Given the description of an element on the screen output the (x, y) to click on. 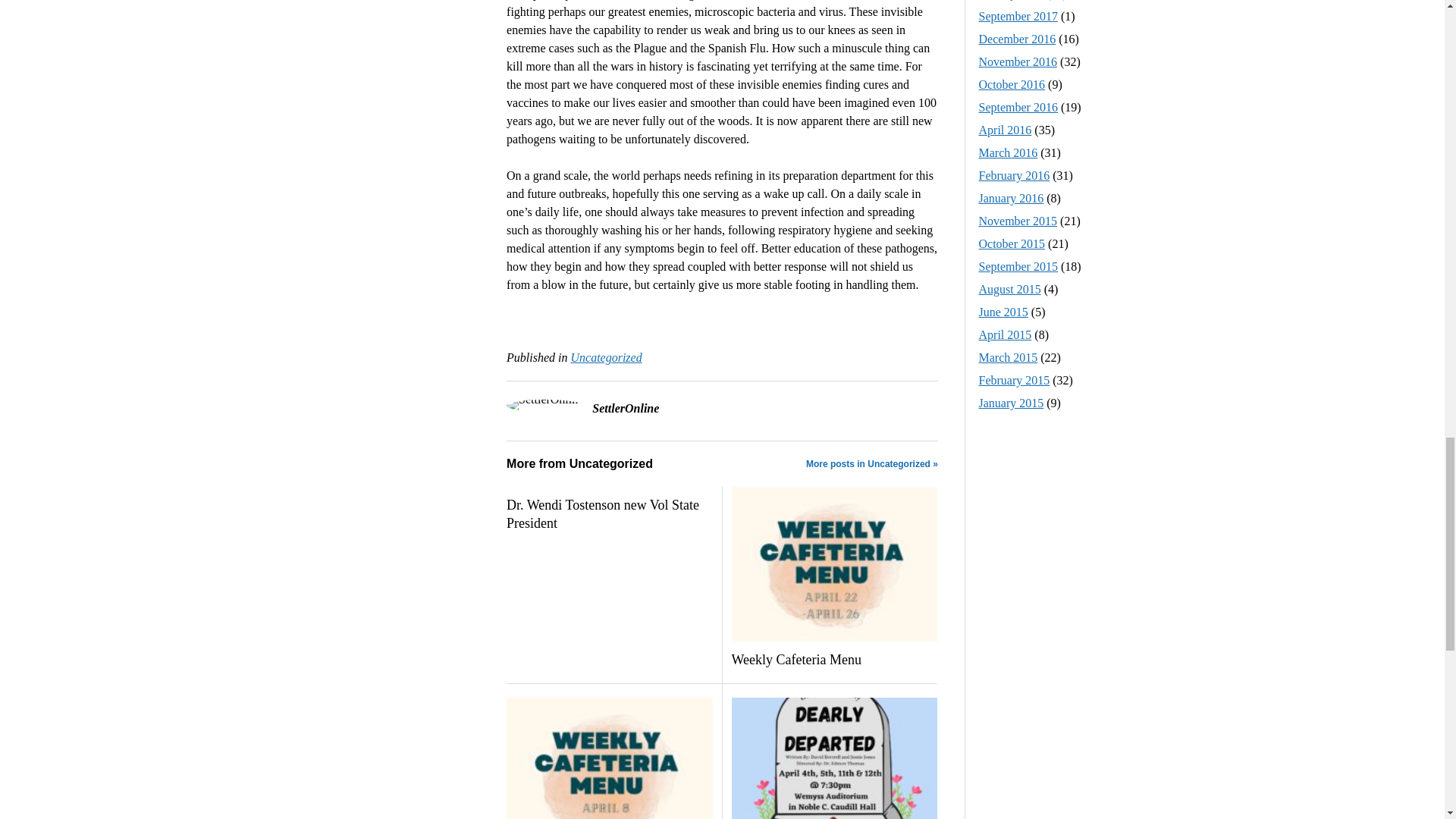
Uncategorized (606, 357)
Dr. Wendi Tostenson new Vol State President (608, 514)
View all posts in Uncategorized (606, 357)
Weekly Cafeteria Menu (833, 660)
